Given the description of an element on the screen output the (x, y) to click on. 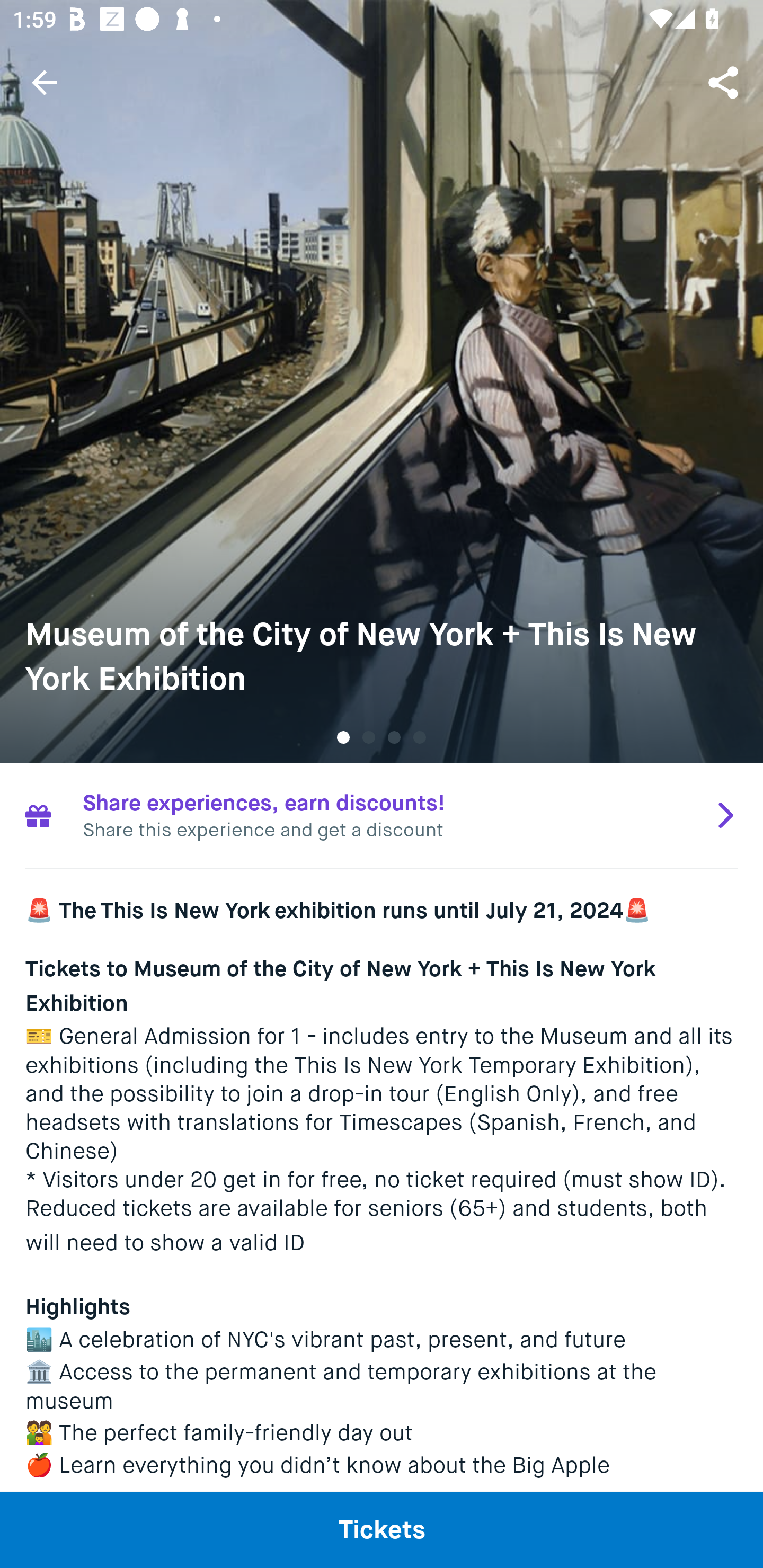
Navigate up (44, 82)
Share (724, 81)
Tickets (381, 1529)
